Given the description of an element on the screen output the (x, y) to click on. 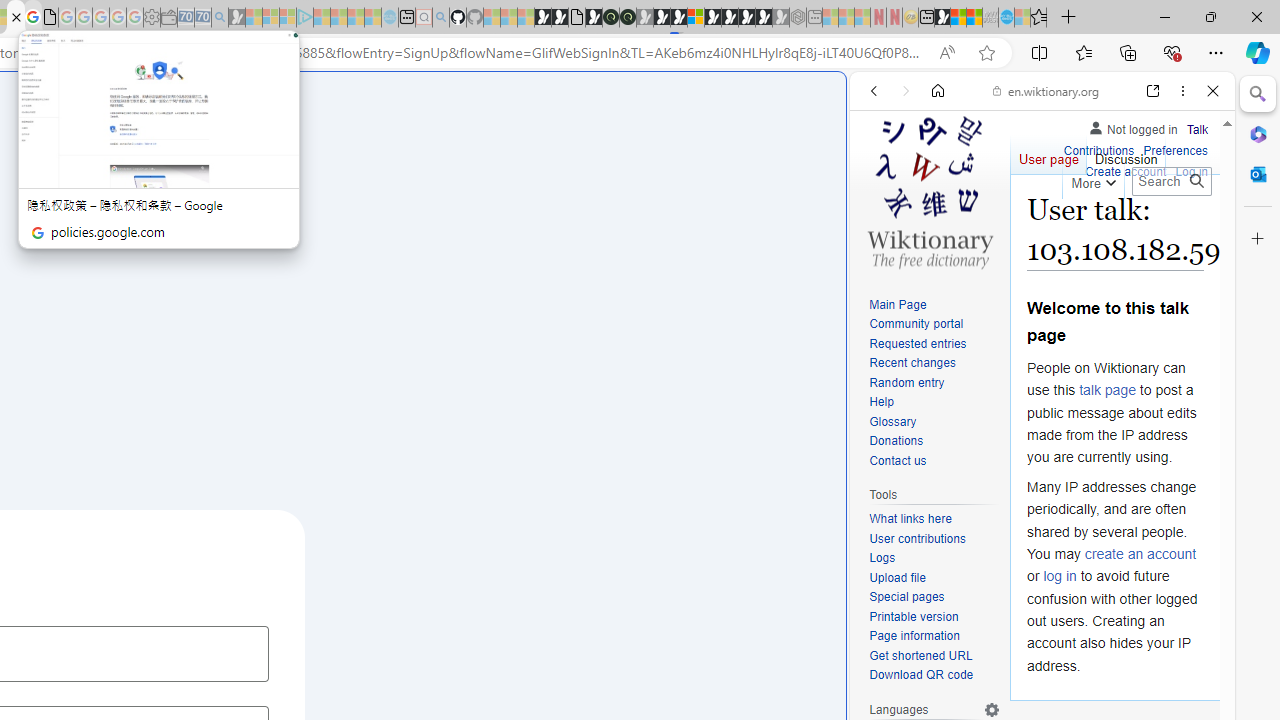
Wiktionary (1034, 669)
Services - Maintenance | Sky Blue Bikes - Sky Blue Bikes (1005, 17)
User page (1048, 154)
Contact us (934, 461)
